Given the description of an element on the screen output the (x, y) to click on. 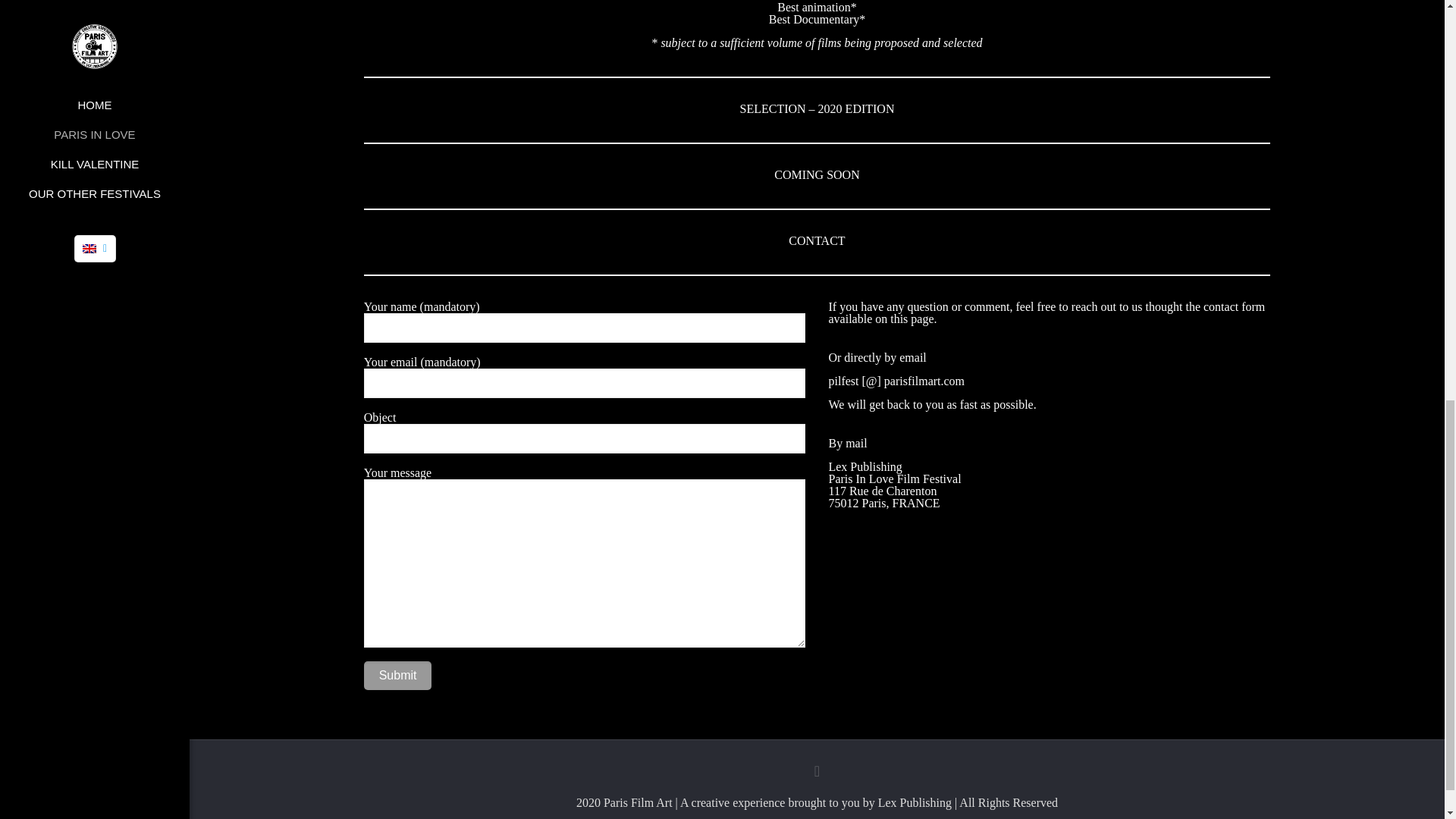
Submit (398, 675)
Submit (398, 675)
